Given the description of an element on the screen output the (x, y) to click on. 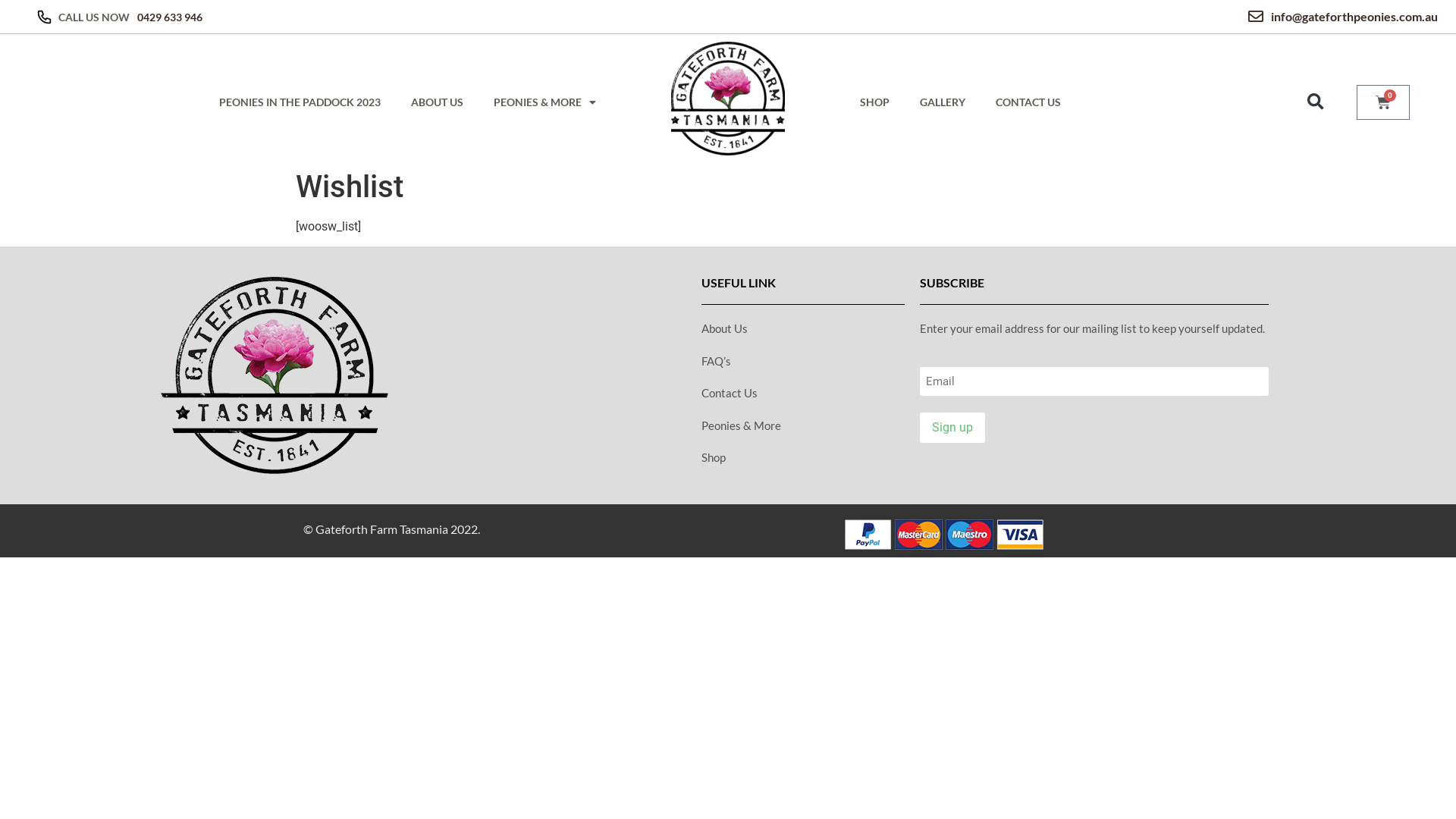
0429 633 946 Element type: text (169, 16)
About Us Element type: text (802, 328)
Contact Us Element type: text (802, 392)
info@gateforthpeonies.com.au Element type: text (1082, 16)
CONTACT US Element type: text (1028, 101)
SHOP Element type: text (874, 101)
Sign up Element type: text (952, 427)
Shop Element type: text (802, 457)
PEONIES IN THE PADDOCK 2023 Element type: text (299, 101)
GALLERY Element type: text (942, 101)
PEONIES & MORE Element type: text (544, 101)
Peonies & More Element type: text (802, 425)
ABOUT US Element type: text (436, 101)
0 Element type: text (1382, 101)
